Given the description of an element on the screen output the (x, y) to click on. 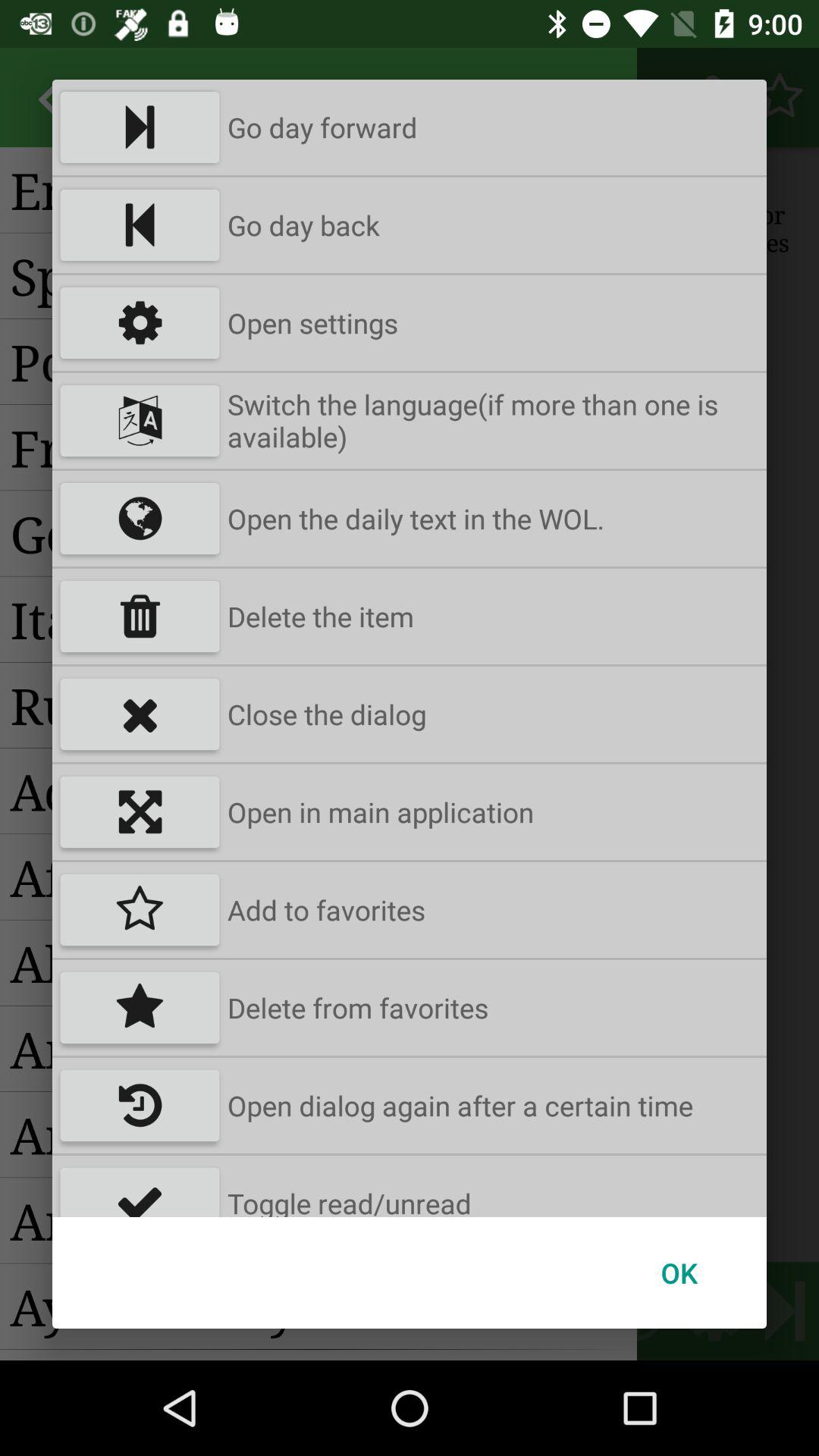
tap icon to the left of toggle read/unread app (139, 1186)
